Given the description of an element on the screen output the (x, y) to click on. 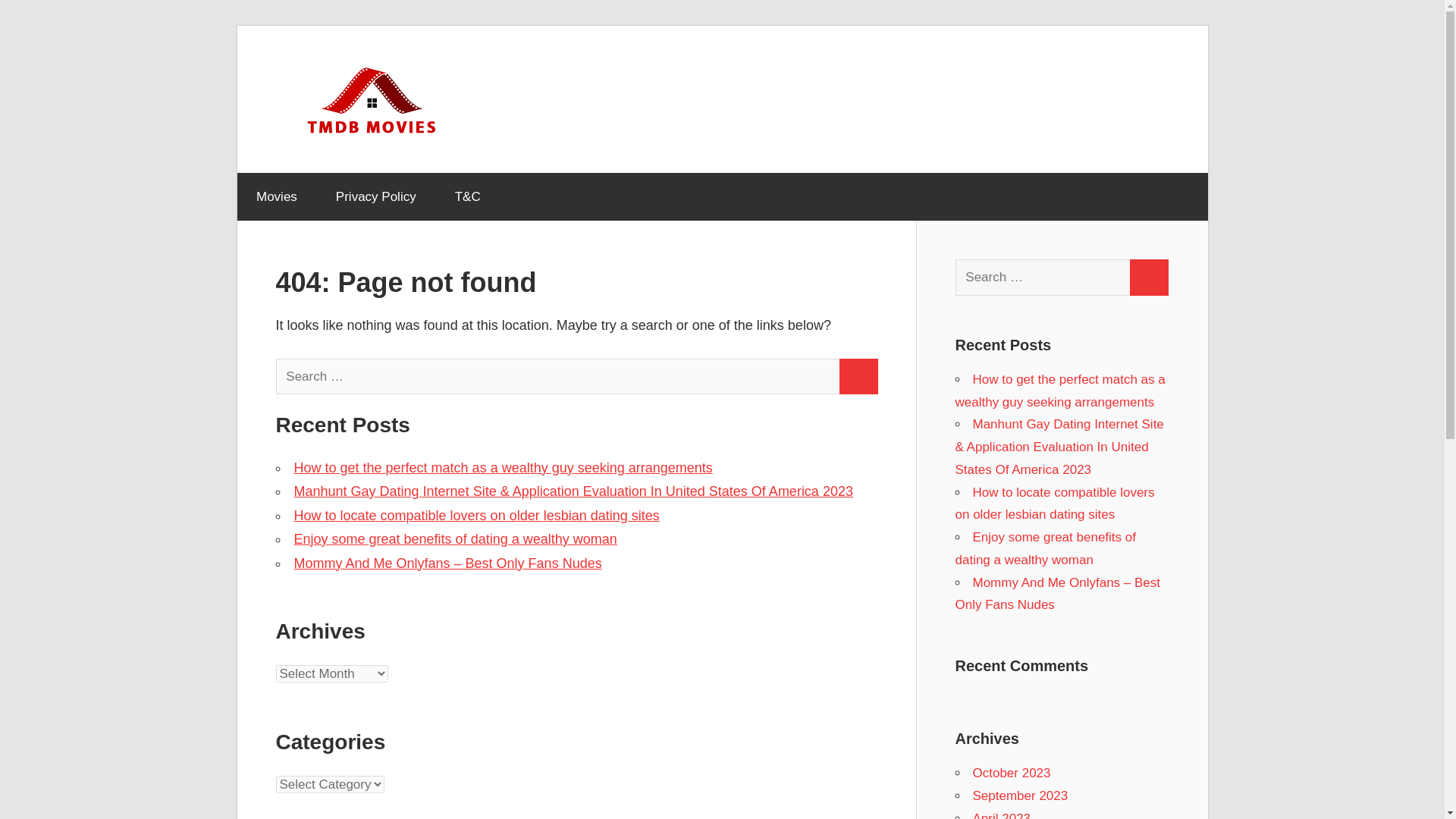
Enjoy some great benefits of dating a wealthy woman (1045, 548)
Enjoy some great benefits of dating a wealthy woman (455, 539)
October 2023 (1010, 772)
Search (858, 376)
Privacy Policy (375, 196)
Search for: (558, 376)
